Given the description of an element on the screen output the (x, y) to click on. 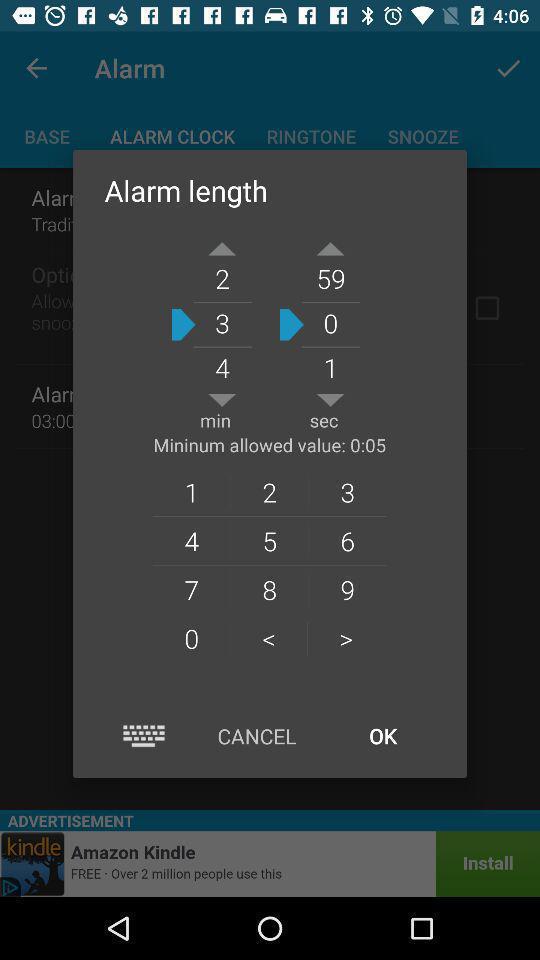
turn on the 1 item (191, 492)
